Given the description of an element on the screen output the (x, y) to click on. 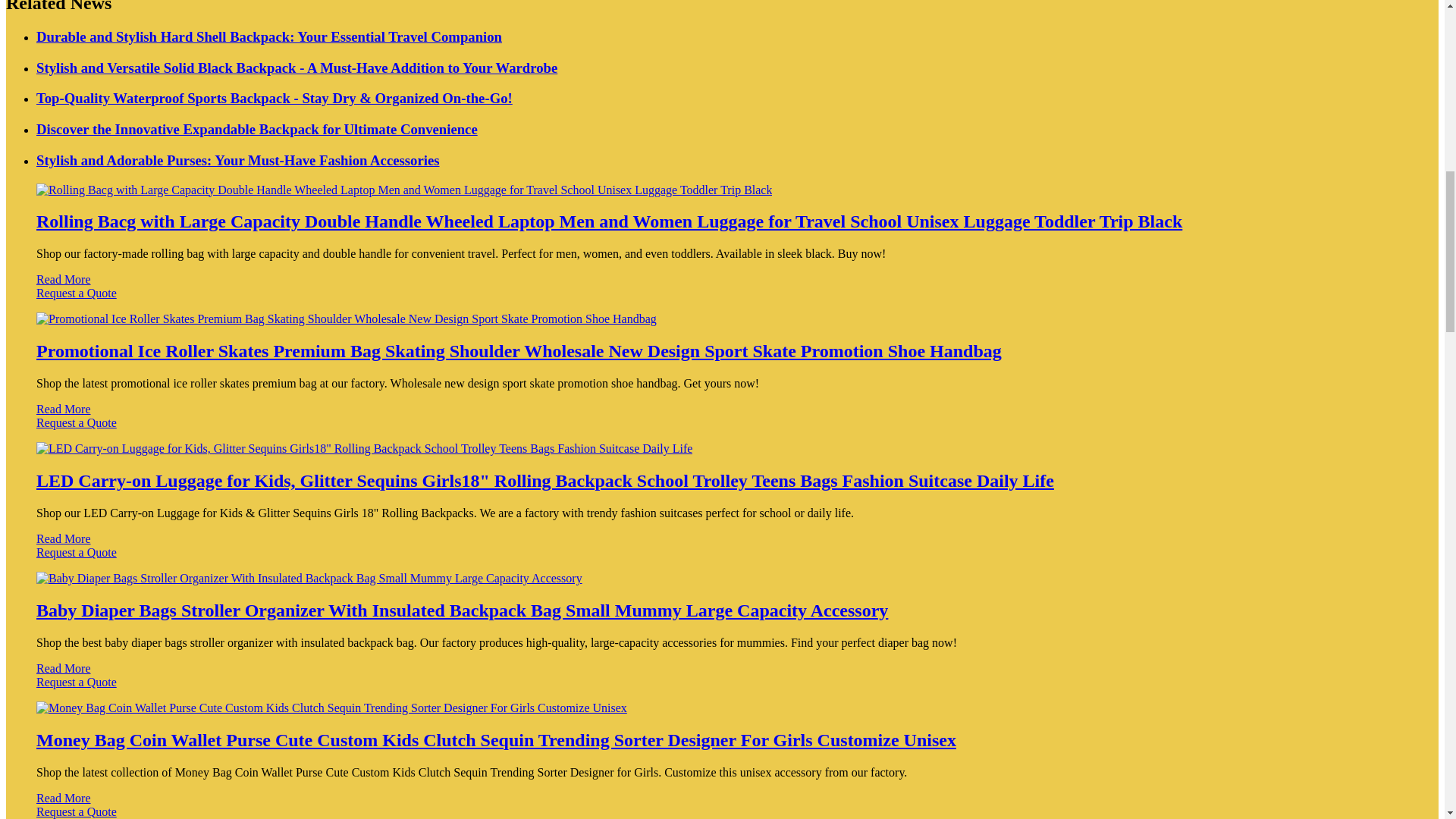
Request a Quote (721, 429)
Read More (63, 408)
Request a Quote (721, 299)
Read More (63, 538)
Read More (63, 278)
Request a Quote (721, 559)
